Given the description of an element on the screen output the (x, y) to click on. 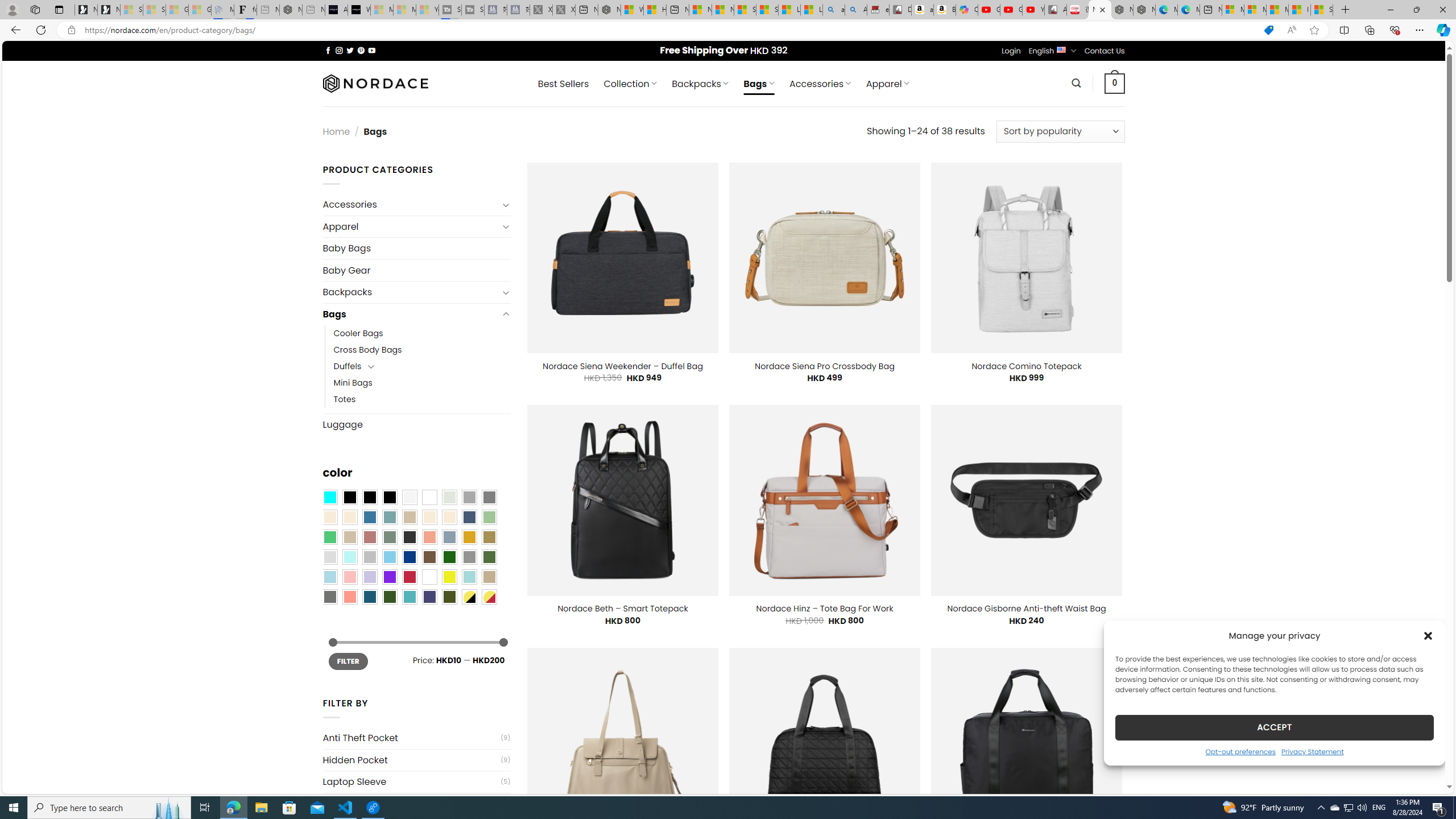
Privacy Statement (1312, 750)
Bags (410, 314)
Hidden Pocket (410, 760)
White (429, 577)
Home (335, 131)
Brownie (408, 517)
USB Charging Port (410, 803)
Purple (389, 577)
Beige (329, 517)
